Given the description of an element on the screen output the (x, y) to click on. 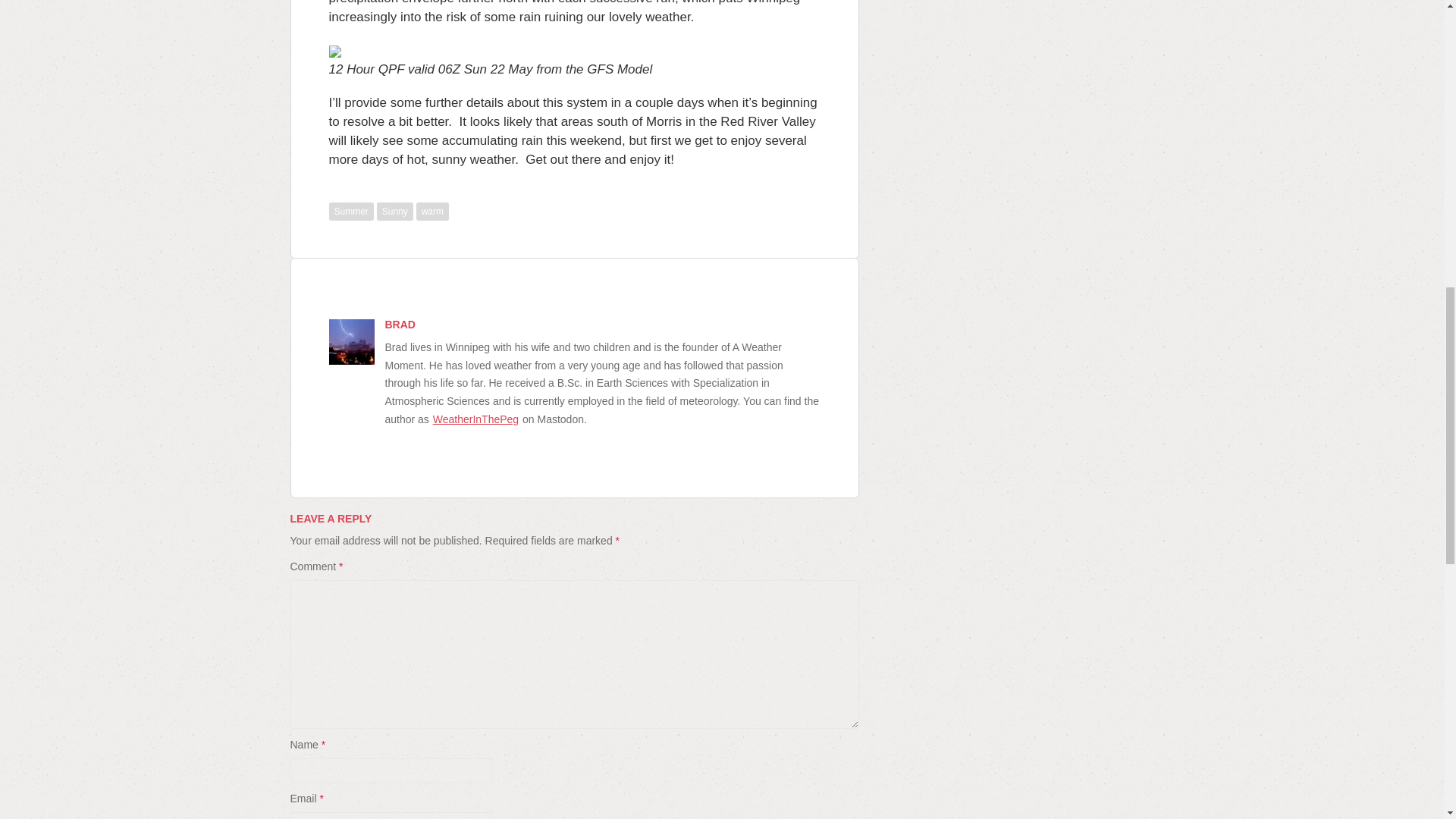
Sunny (395, 211)
warm (432, 211)
Summer (351, 211)
BRAD (399, 324)
WeatherInThePeg (475, 419)
